Given the description of an element on the screen output the (x, y) to click on. 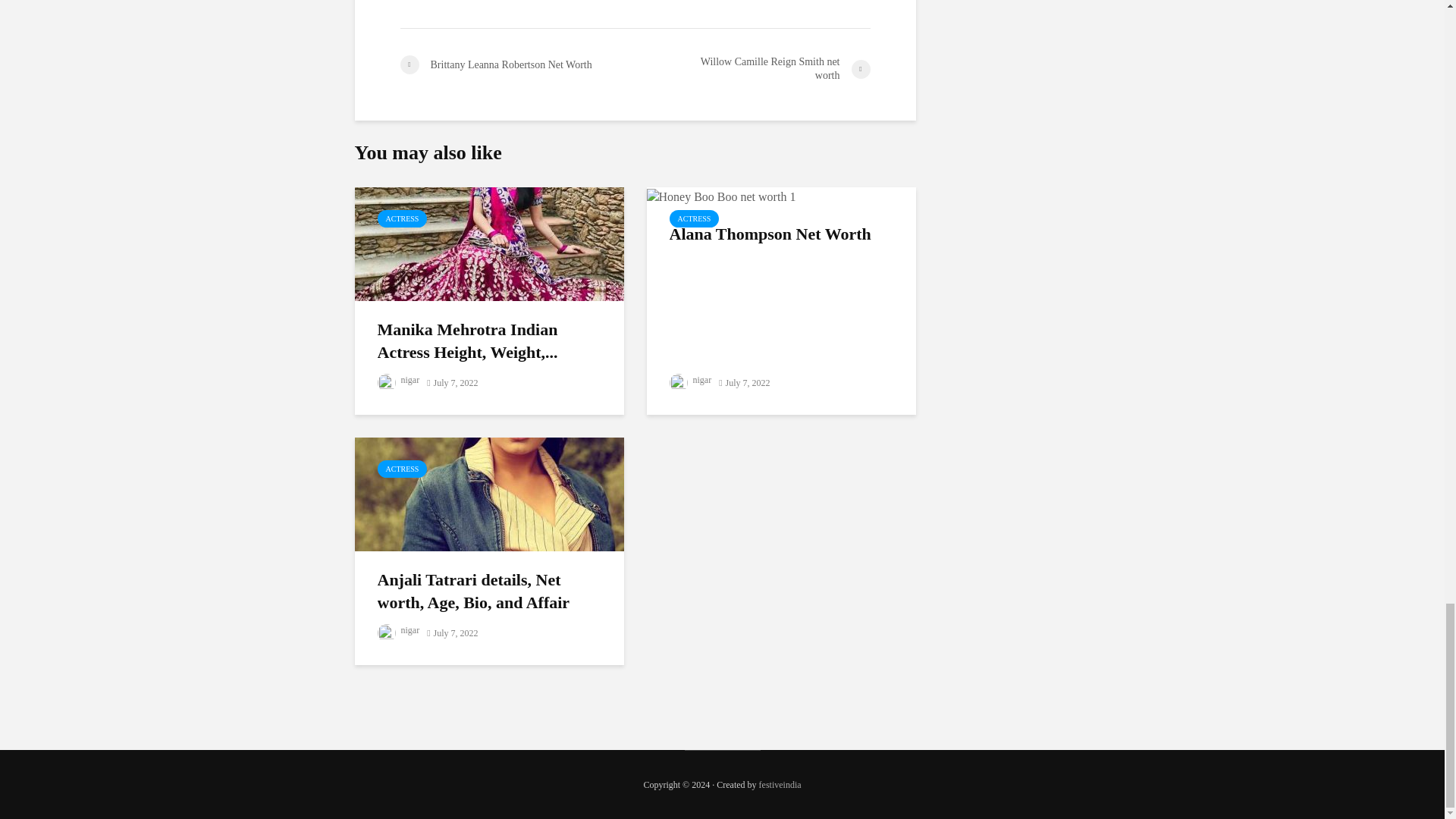
Anjali Tatrari details, Net worth, Age, Bio, and Affair (489, 492)
Alana Thompson Net Worth (720, 195)
Brittany Leanna Robertson Net Worth (517, 64)
Willow Camille Reign Smith net worth (752, 68)
